Given the description of an element on the screen output the (x, y) to click on. 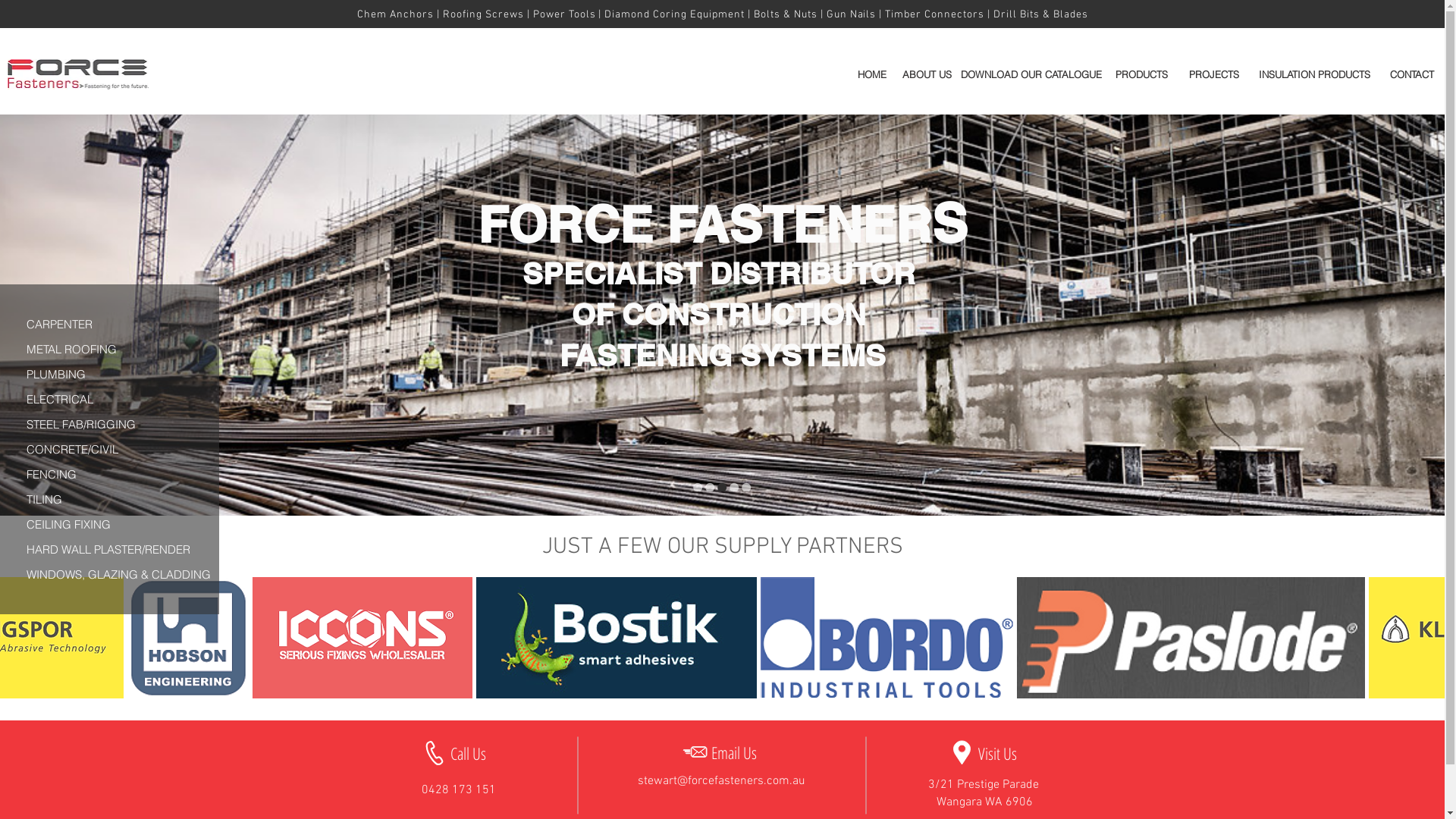
PROJECTS Element type: text (1213, 73)
PRODUCTS Element type: text (1140, 73)
ABOUT US Element type: text (926, 73)
stewart@forcefasteners.com.au Element type: text (721, 780)
HOME Element type: text (871, 73)
INSULATION PRODUCTS Element type: text (1313, 73)
CONTACT Element type: text (1411, 73)
DOWNLOAD OUR CATALOGUE Element type: text (1030, 73)
